Given the description of an element on the screen output the (x, y) to click on. 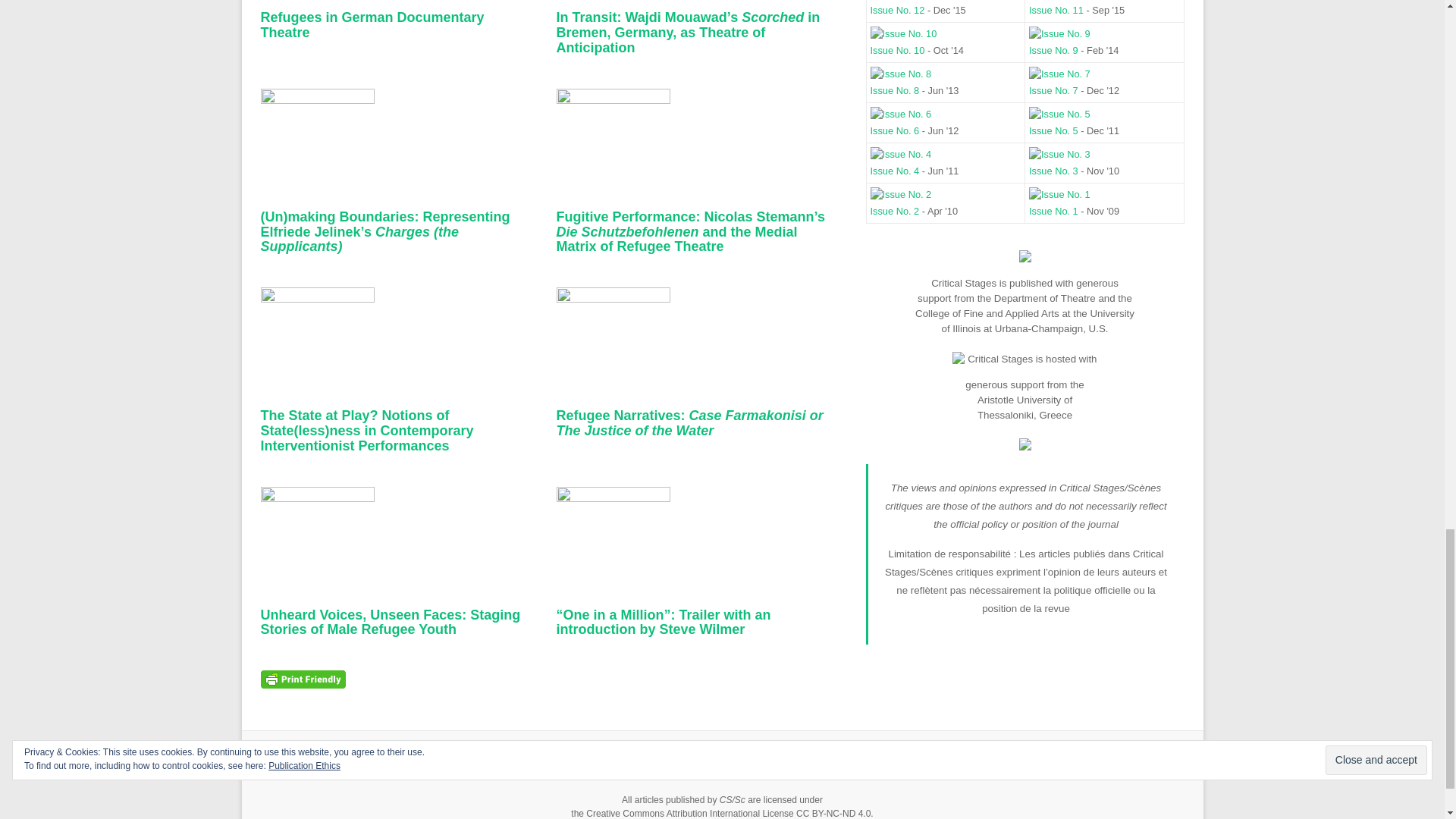
Refugees in German Documentary Theatre (372, 24)
